Given the description of an element on the screen output the (x, y) to click on. 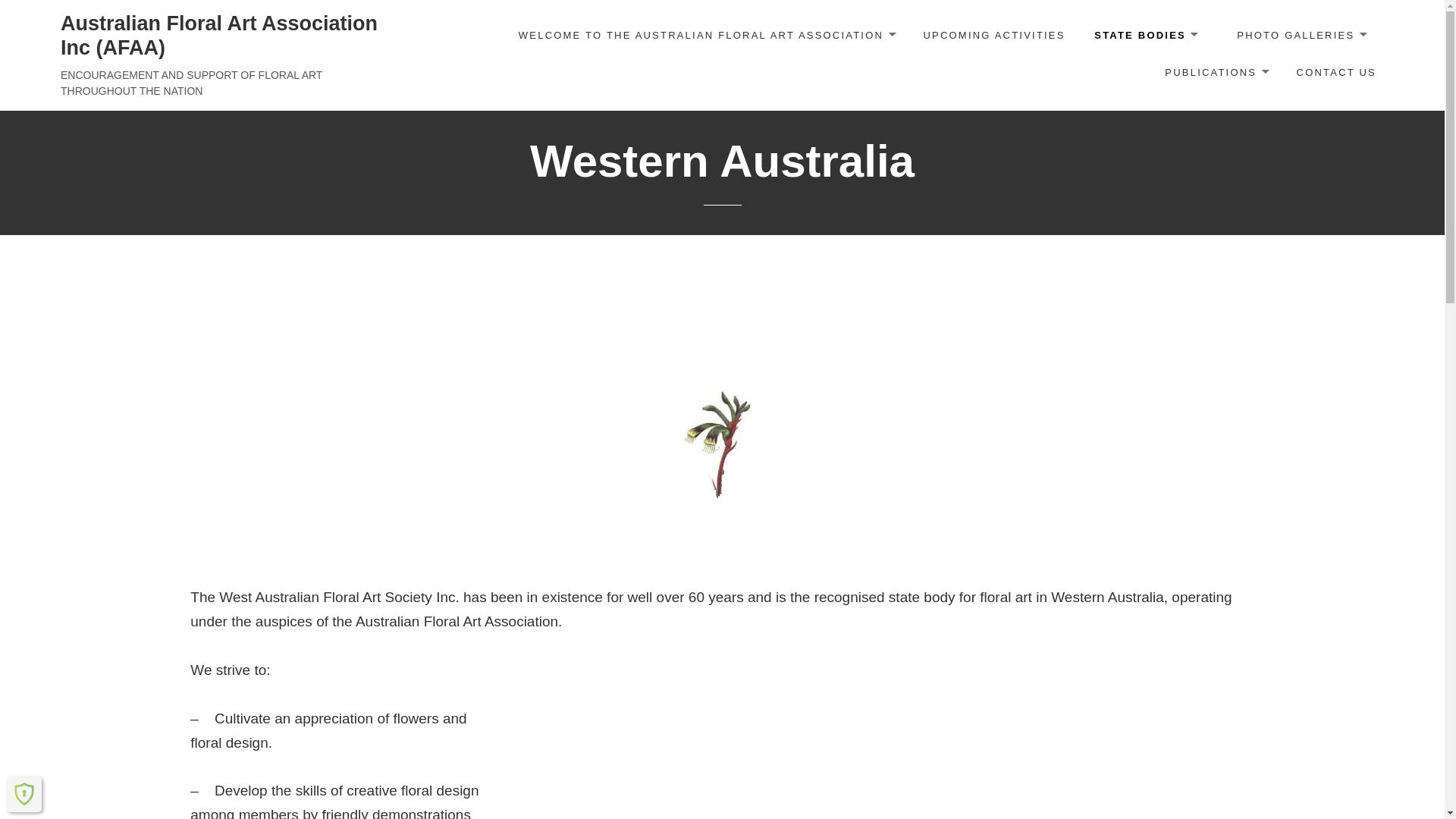
Australian Floral Art Association Inc (AFAA) Element type: text (218, 36)
WELCOME TO THE AUSTRALIAN FLORAL ART ASSOCIATION Element type: text (706, 36)
CONTACT US Element type: text (1336, 73)
Shield Security Element type: hover (24, 793)
PUBLICATIONS Element type: text (1215, 73)
UPCOMING ACTIVITIES Element type: text (993, 36)
PHOTO GALLERIES Element type: text (1300, 36)
STATE BODIES Element type: text (1144, 36)
